Given the description of an element on the screen output the (x, y) to click on. 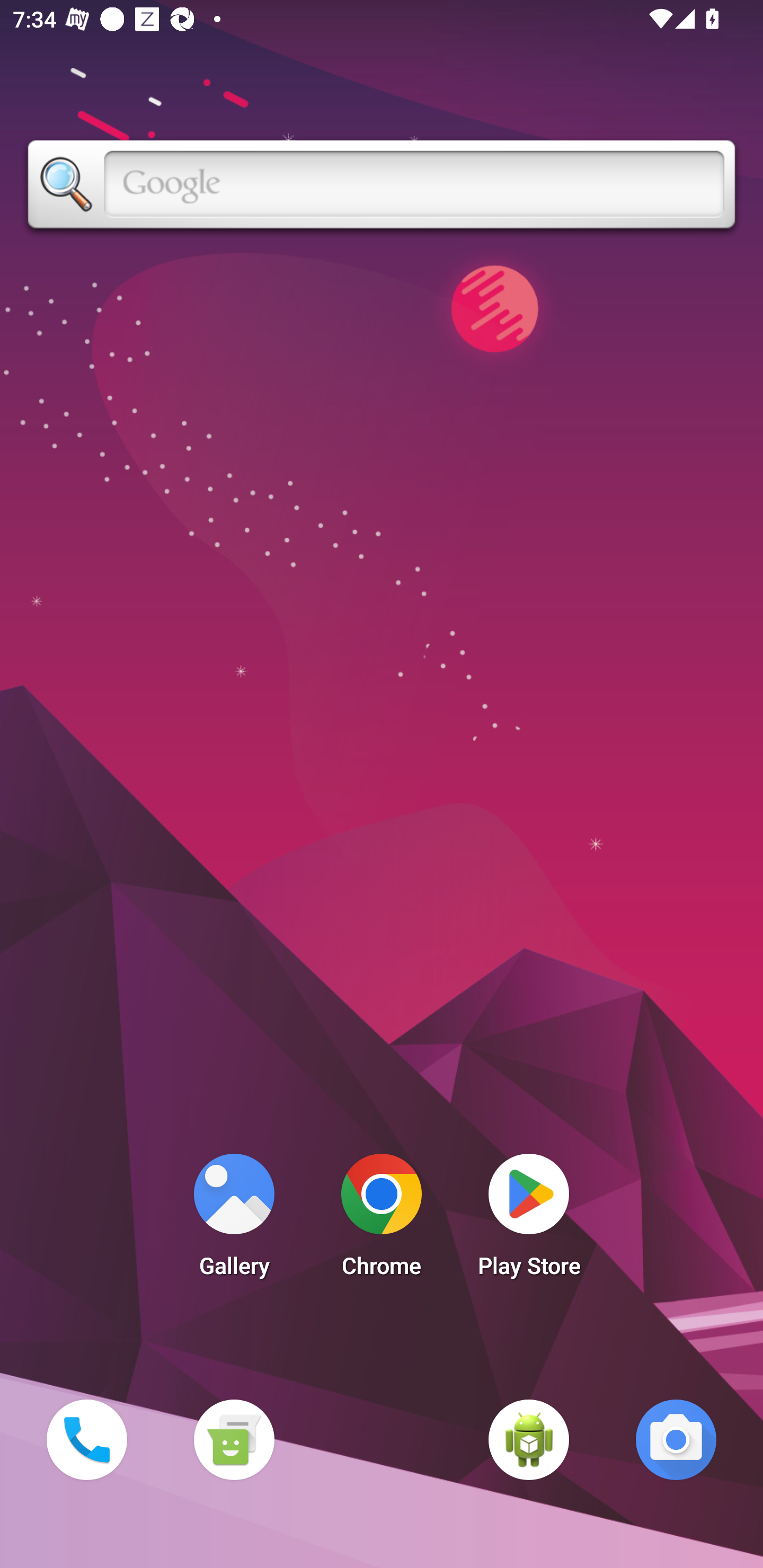
Gallery (233, 1220)
Chrome (381, 1220)
Play Store (528, 1220)
Phone (86, 1439)
Messaging (233, 1439)
WebView Browser Tester (528, 1439)
Camera (676, 1439)
